Given the description of an element on the screen output the (x, y) to click on. 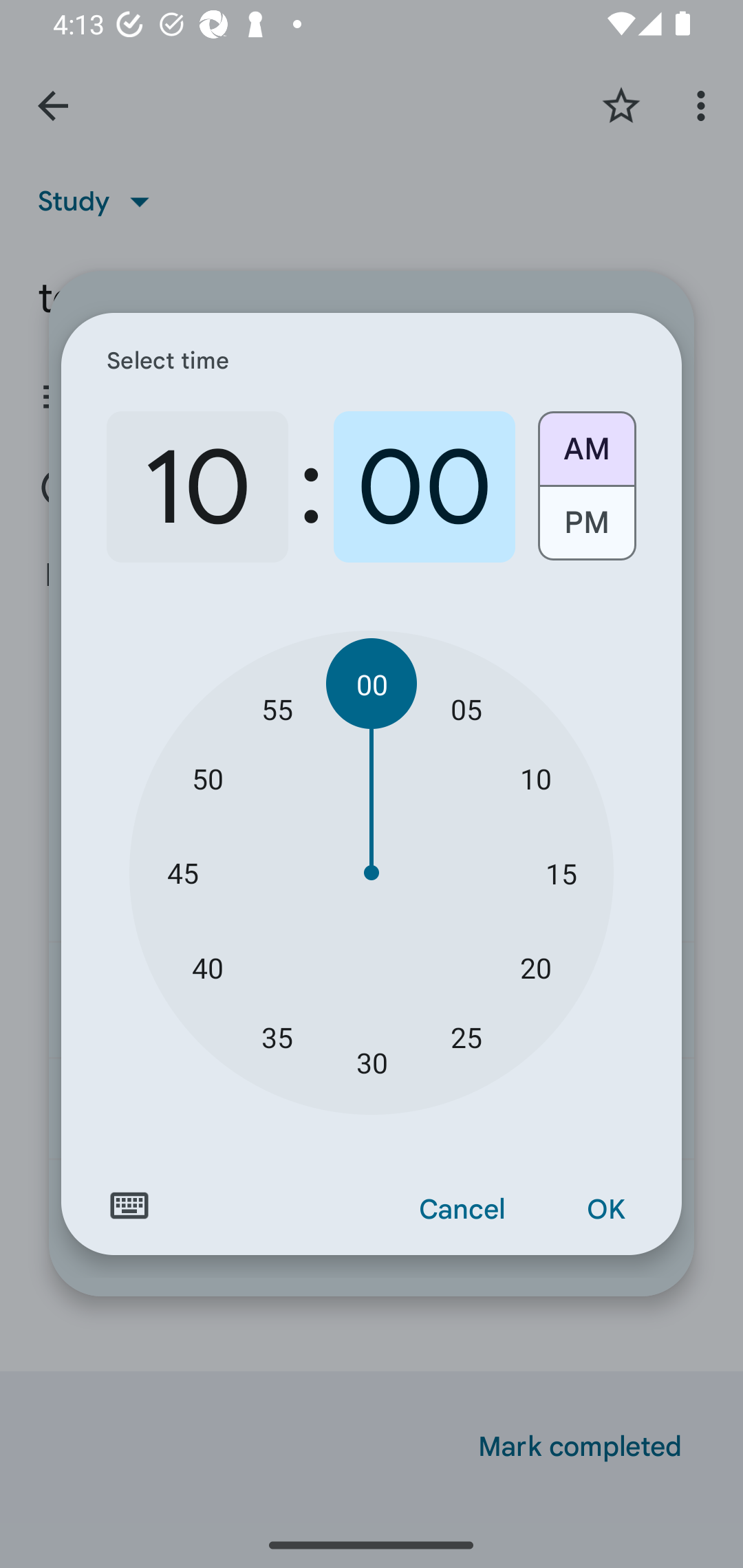
AM (586, 441)
10 10 o'clock (197, 486)
00 0 minutes (424, 486)
PM (586, 529)
00 00 minutes (371, 683)
55 55 minutes (276, 708)
05 05 minutes (466, 708)
50 50 minutes (207, 778)
10 10 minutes (535, 778)
45 45 minutes (182, 872)
15 15 minutes (561, 872)
40 40 minutes (207, 966)
20 20 minutes (535, 966)
35 35 minutes (276, 1035)
25 25 minutes (466, 1035)
30 30 minutes (371, 1062)
Switch to text input mode for the time input. (128, 1205)
Cancel (462, 1209)
OK (605, 1209)
